Given the description of an element on the screen output the (x, y) to click on. 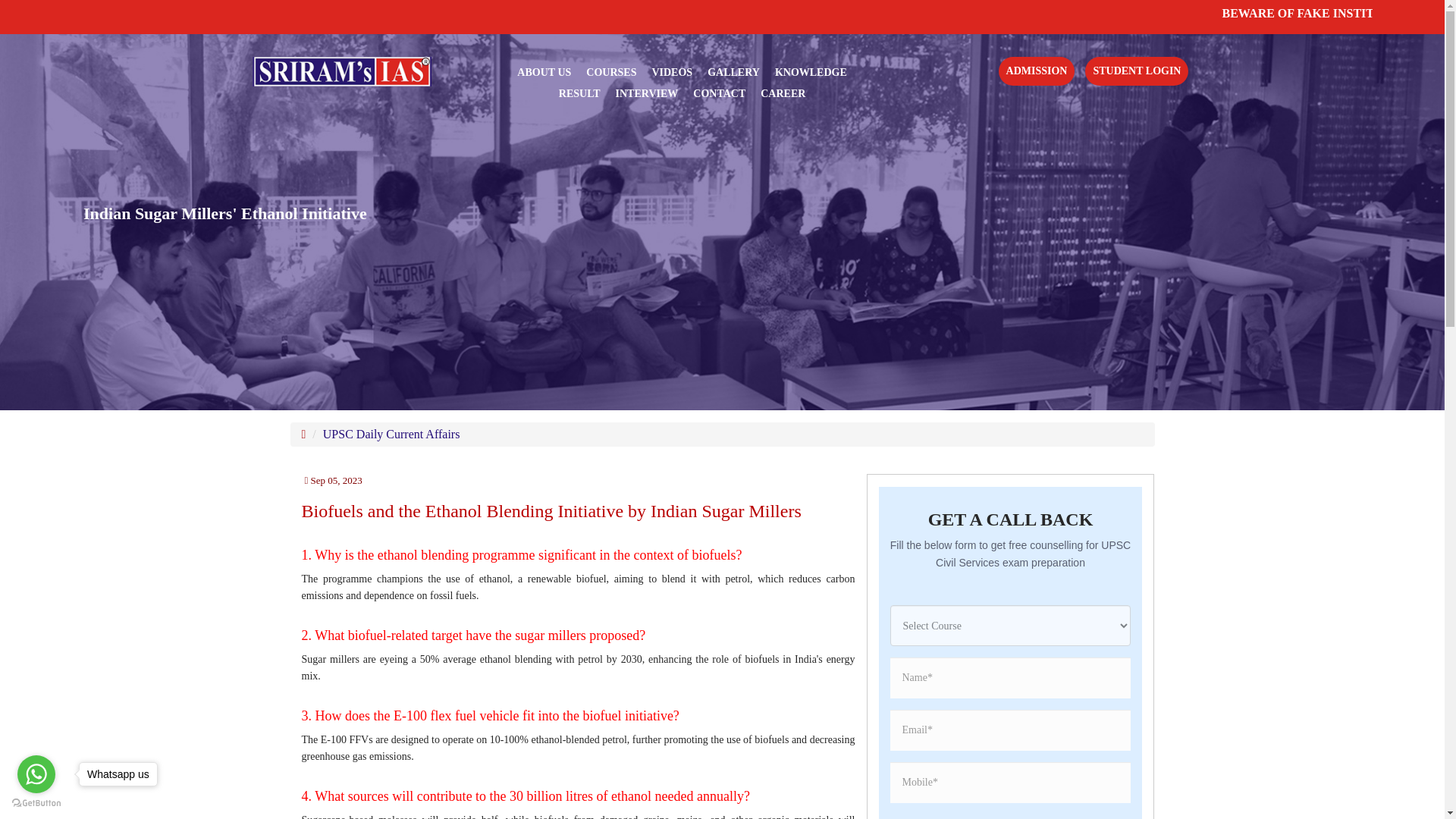
CONTACT (719, 93)
ABOUT US (543, 72)
RESULT (579, 93)
KNOWLEDGE (810, 72)
COURSES (611, 72)
STUDENT LOGIN (1136, 70)
GALLERY (733, 72)
CAREER (782, 93)
INTERVIEW (646, 93)
UPSC Daily Current Affairs (391, 433)
ADMISSION (1036, 70)
VIDEOS (671, 72)
